Given the description of an element on the screen output the (x, y) to click on. 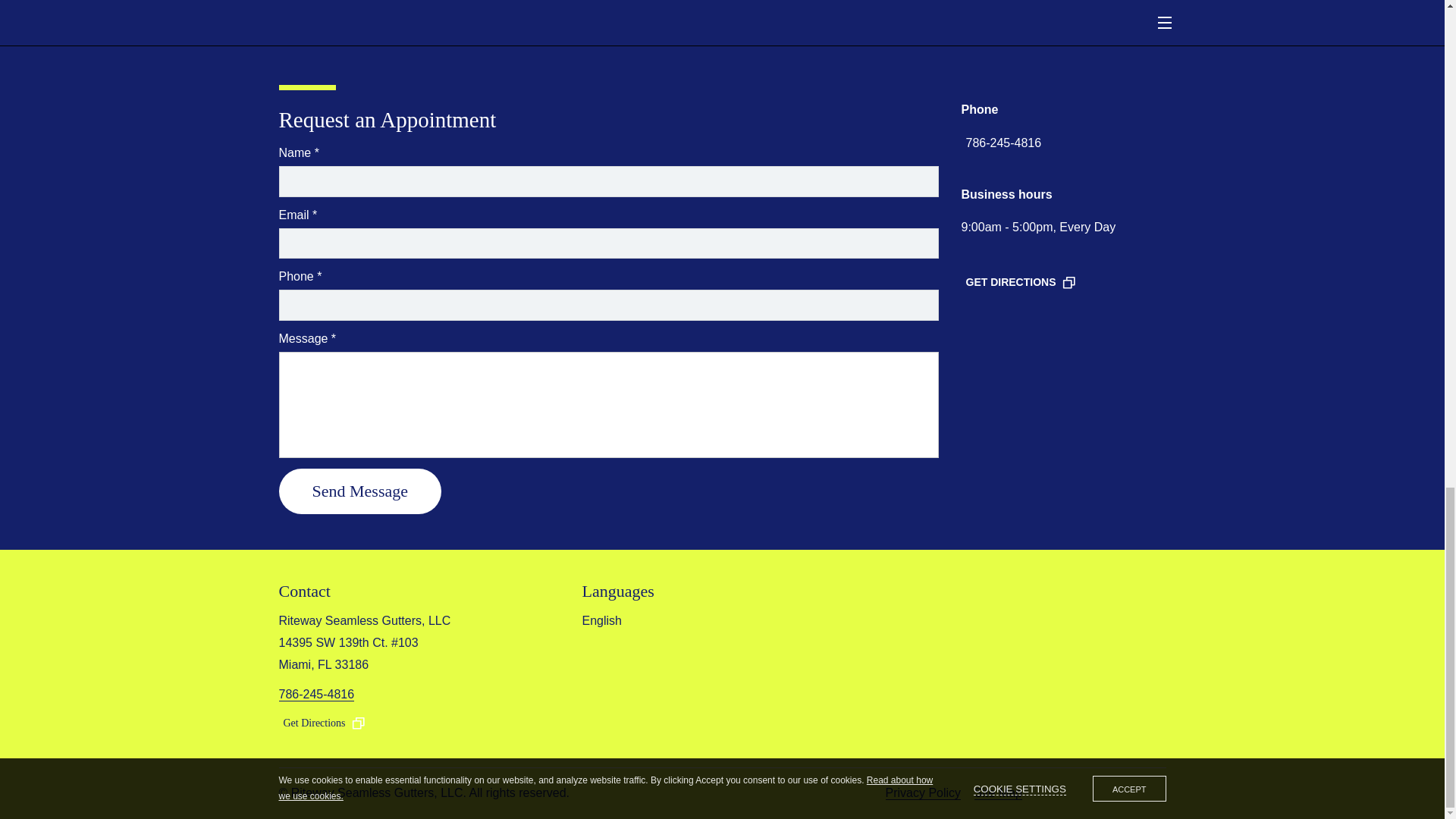
Send Message (360, 491)
Site Map (998, 793)
Privacy Policy (922, 793)
Get Directions (328, 722)
786-245-4816 (317, 694)
GET DIRECTIONS (1023, 282)
786-245-4816 (1003, 143)
